Given the description of an element on the screen output the (x, y) to click on. 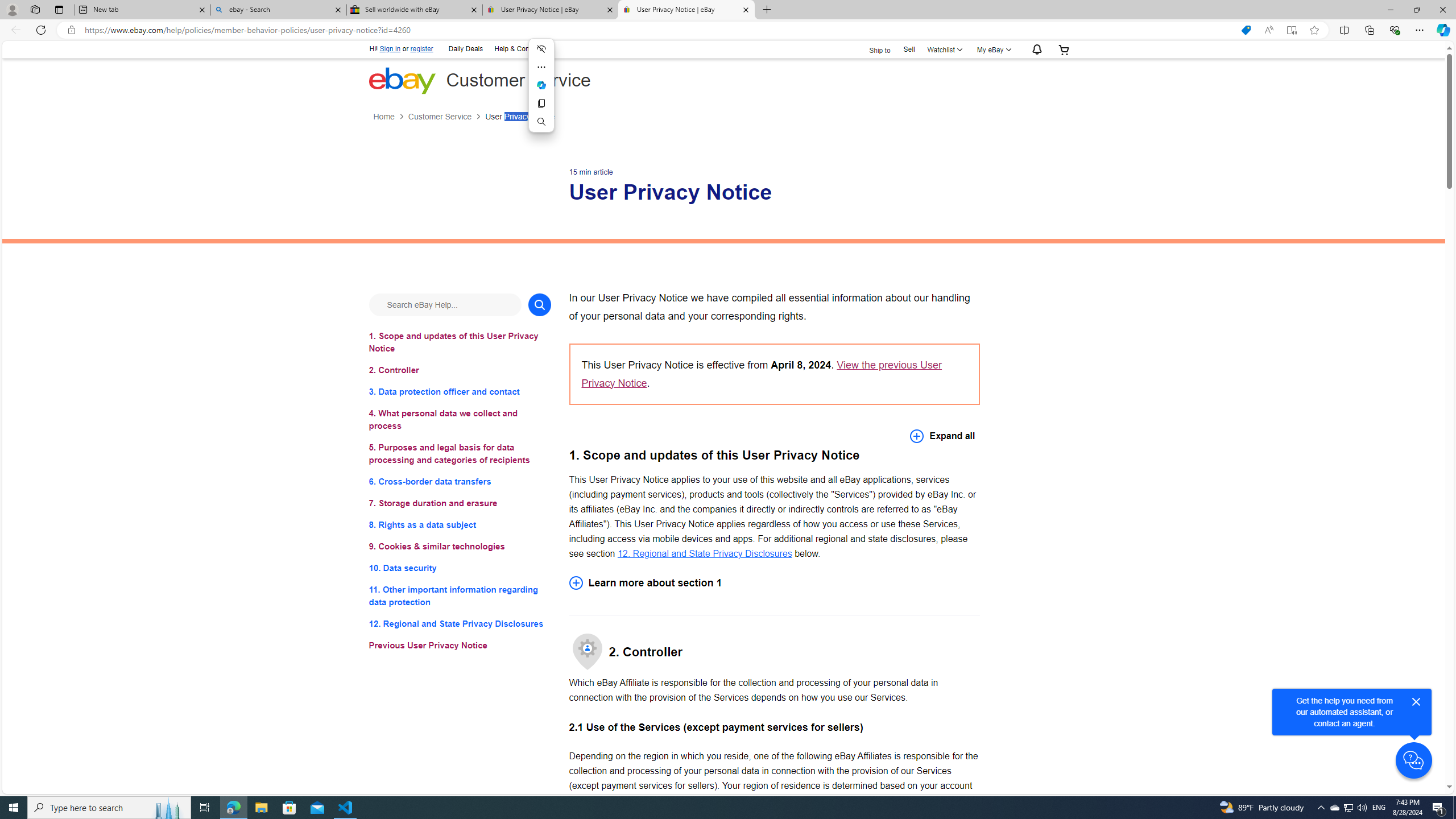
WatchlistExpand Watch List (943, 49)
Customer Service (439, 117)
User Privacy Notice | eBay (685, 9)
8. Rights as a data subject (459, 524)
Expand Cart (1064, 49)
More actions (540, 67)
Previous User Privacy Notice (459, 645)
10. Data security (459, 567)
Address and search bar (658, 29)
Help & Contact (516, 48)
register (421, 49)
3. Data protection officer and contact (459, 391)
7. Storage duration and erasure (459, 503)
